Given the description of an element on the screen output the (x, y) to click on. 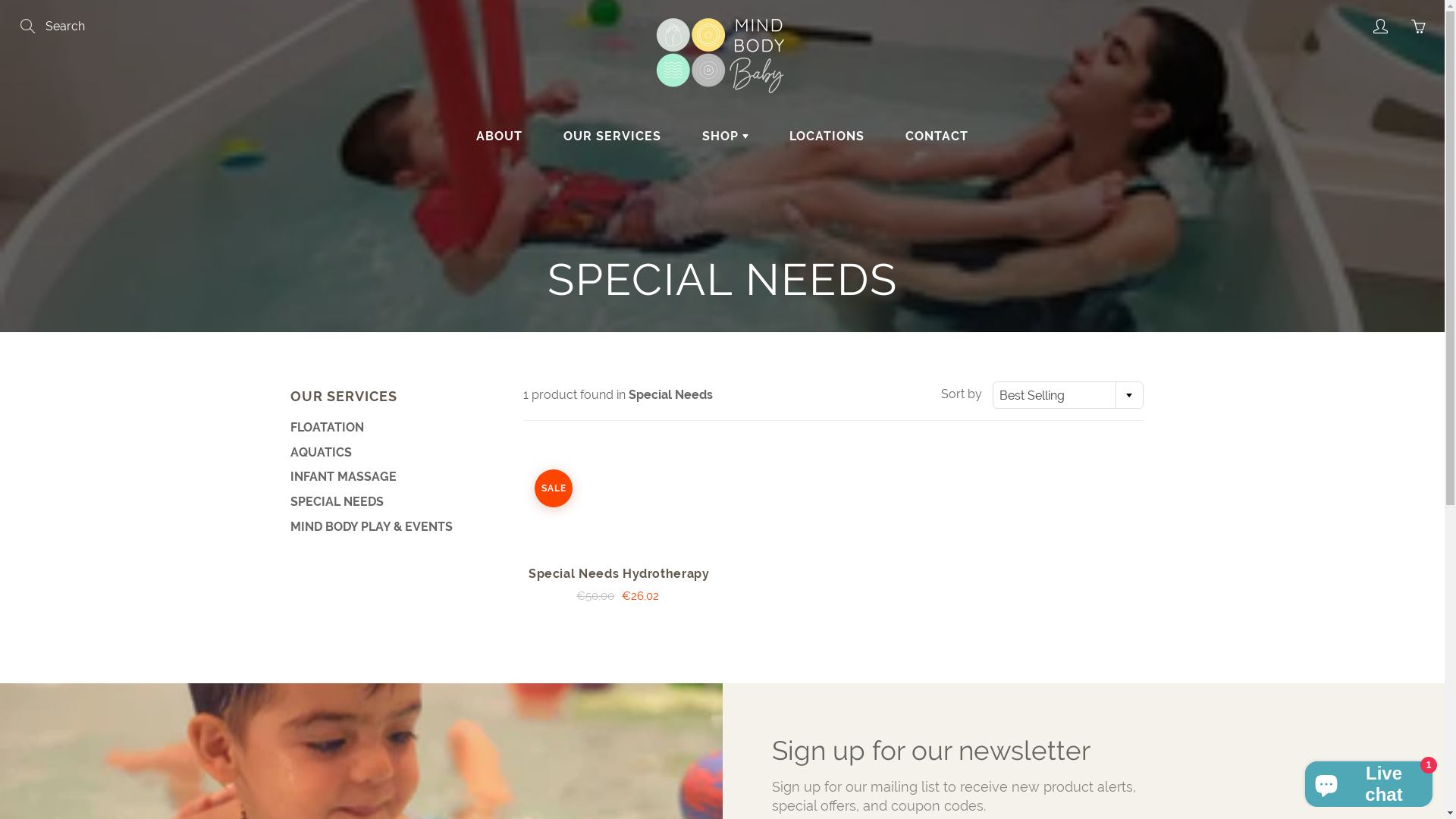
Search Element type: text (28, 26)
SPECIAL NEEDS Element type: text (389, 501)
You have 0 items in your cart Element type: text (1417, 26)
My account Element type: text (1379, 26)
CONTACT Element type: text (936, 136)
MIND BODY PLAY & EVENTS Element type: text (389, 526)
OUR SERVICES Element type: text (612, 136)
SHOP Element type: text (725, 136)
AQUATICS Element type: text (389, 452)
LOCATIONS Element type: text (826, 136)
Shopify online store chat Element type: hover (1368, 780)
FLOATATION Element type: text (389, 427)
ABOUT Element type: text (499, 136)
INFANT MASSAGE Element type: text (389, 476)
